Given the description of an element on the screen output the (x, y) to click on. 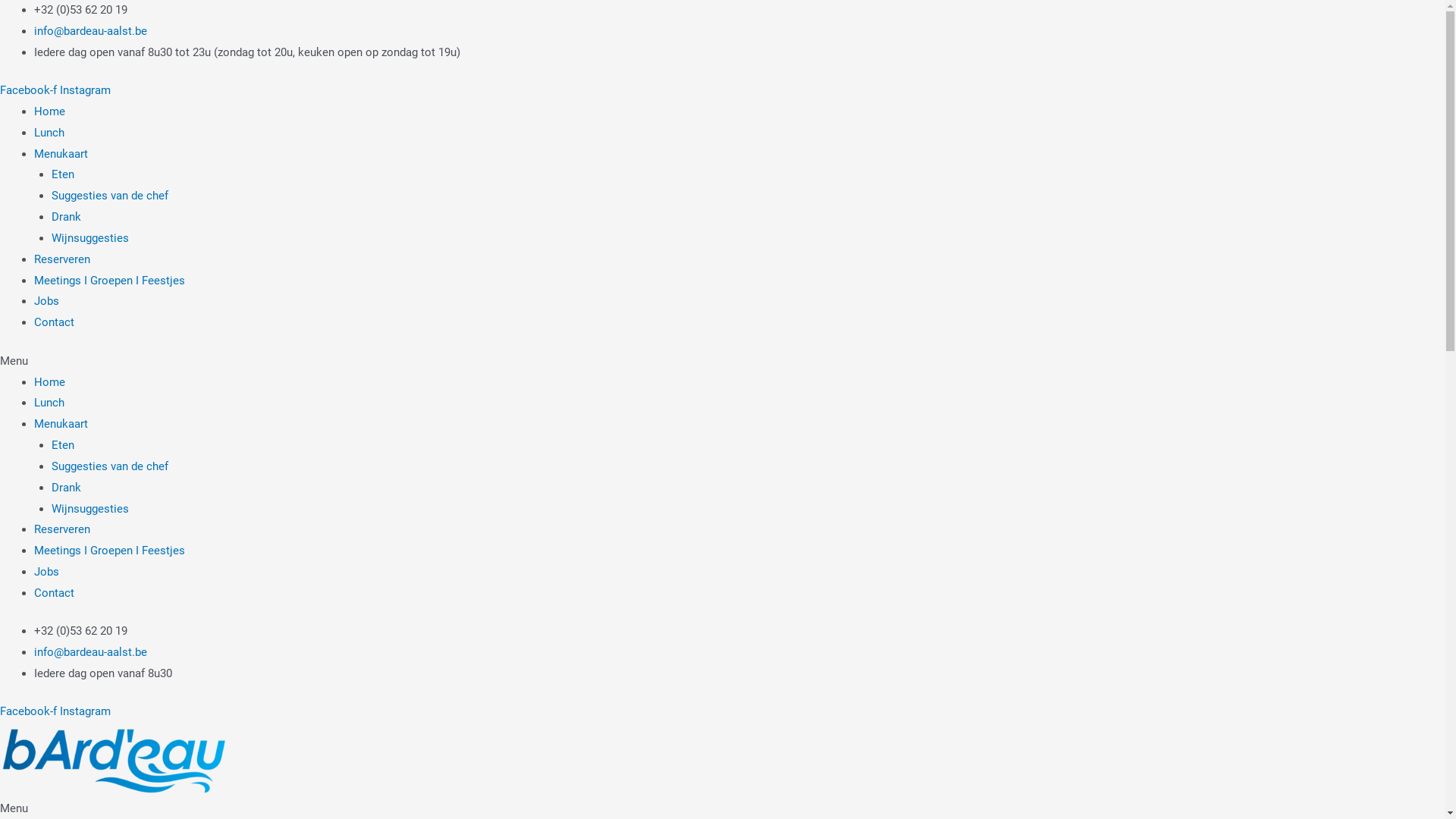
Meetings I Groepen I Feestjes Element type: text (109, 550)
Jobs Element type: text (46, 571)
Lunch Element type: text (49, 132)
info@bardeau-aalst.be Element type: text (90, 651)
Suggesties van de chef Element type: text (109, 195)
Lunch Element type: text (49, 402)
Reserveren Element type: text (62, 529)
Jobs Element type: text (46, 300)
Contact Element type: text (54, 322)
Wijnsuggesties Element type: text (89, 237)
Suggesties van de chef Element type: text (109, 466)
Menukaart Element type: text (60, 423)
Drank Element type: text (66, 487)
Drank Element type: text (66, 216)
Menukaart Element type: text (60, 153)
Eten Element type: text (62, 174)
Facebook-f Element type: text (29, 90)
Meetings I Groepen I Feestjes Element type: text (109, 280)
info@bardeau-aalst.be Element type: text (90, 30)
Instagram Element type: text (84, 711)
Facebook-f Element type: text (29, 711)
Wijnsuggesties Element type: text (89, 508)
Contact Element type: text (54, 592)
Reserveren Element type: text (62, 259)
Eten Element type: text (62, 444)
Home Element type: text (49, 111)
Instagram Element type: text (84, 90)
Home Element type: text (49, 381)
